Given the description of an element on the screen output the (x, y) to click on. 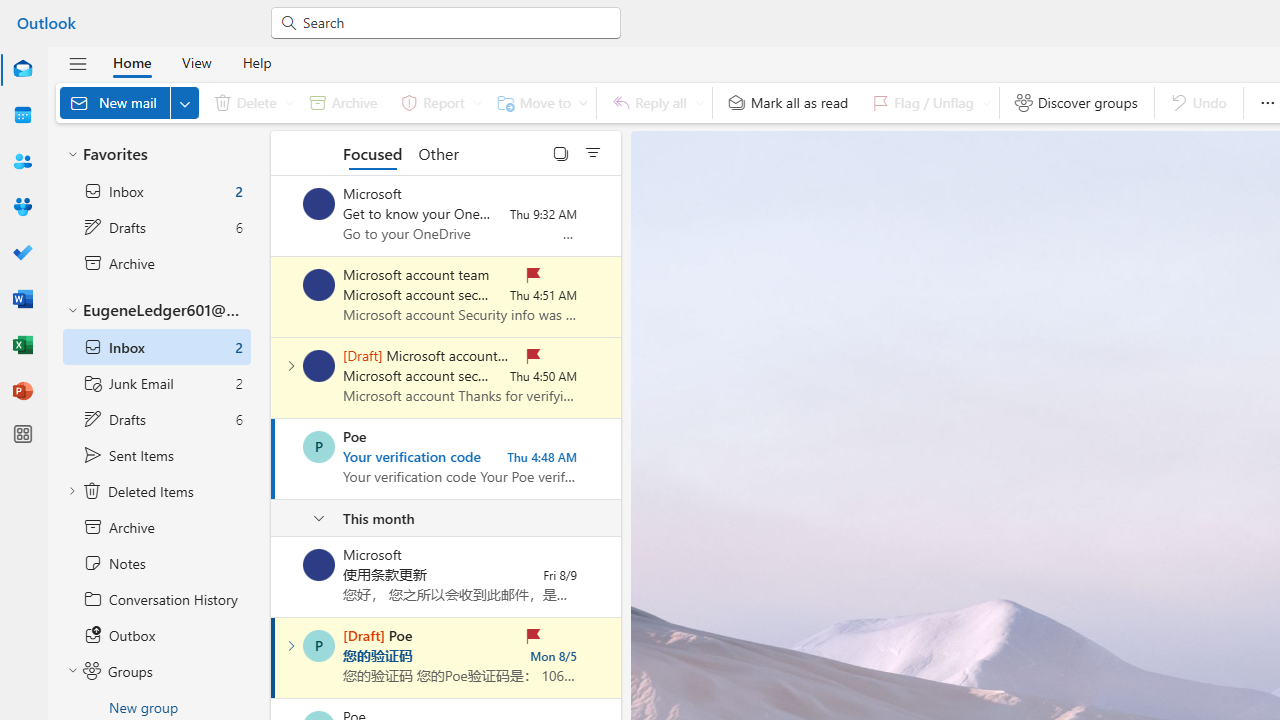
Poe (319, 645)
Groups (22, 206)
Calendar (22, 115)
More apps (22, 434)
Move to (538, 102)
New mail (129, 102)
Expand conversation (291, 646)
Delete (250, 102)
Expand to see more New options (184, 102)
